Given the description of an element on the screen output the (x, y) to click on. 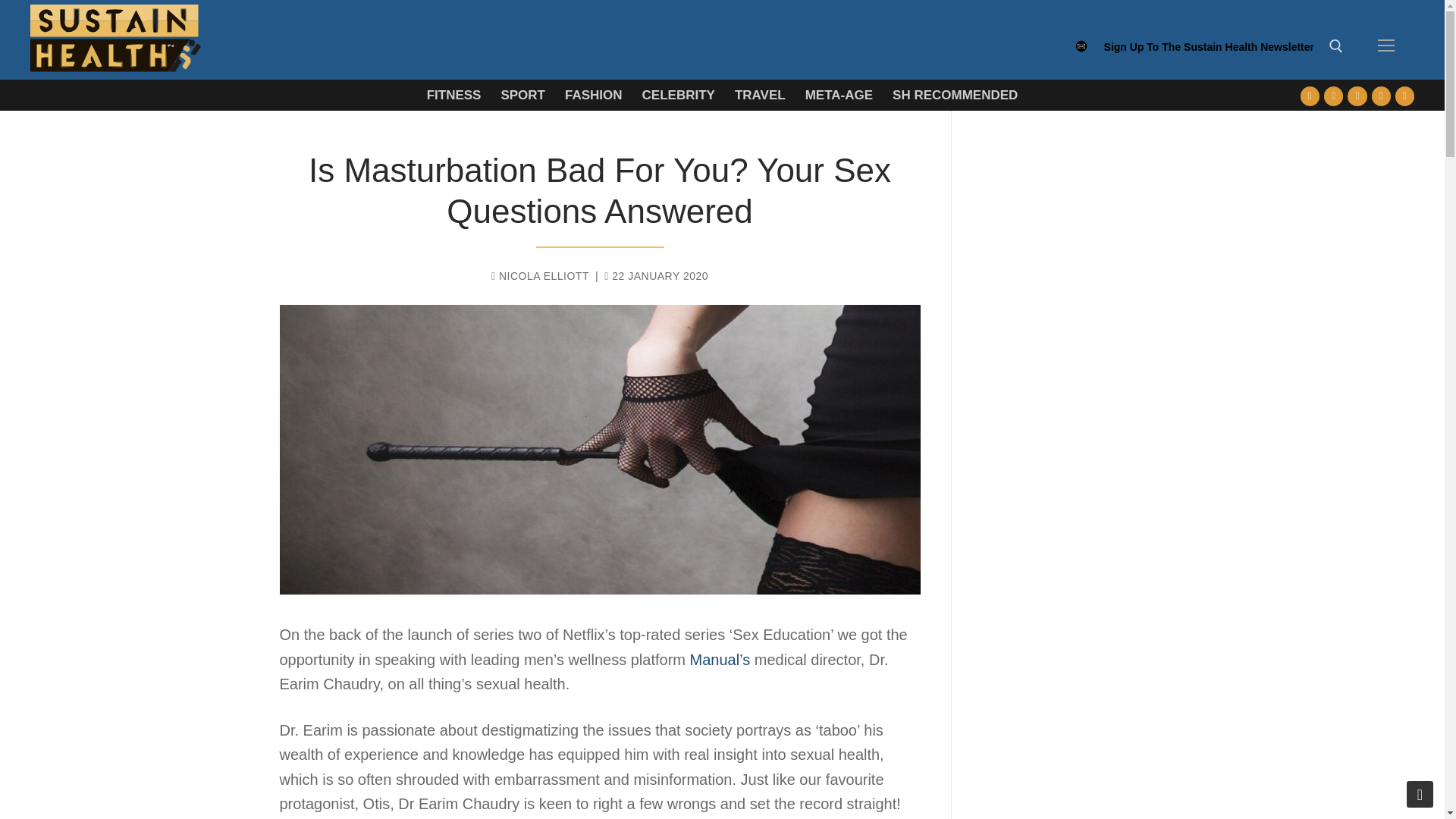
TRAVEL (759, 94)
Instagram (1380, 95)
CELEBRITY (678, 94)
Sign Up To The Sustain Health Newsletter (1208, 53)
META-AGE (838, 94)
SPORT (522, 94)
Pinterest (1404, 95)
FASHION (592, 94)
SH RECOMMENDED (954, 94)
Youtube (1357, 95)
